Given the description of an element on the screen output the (x, y) to click on. 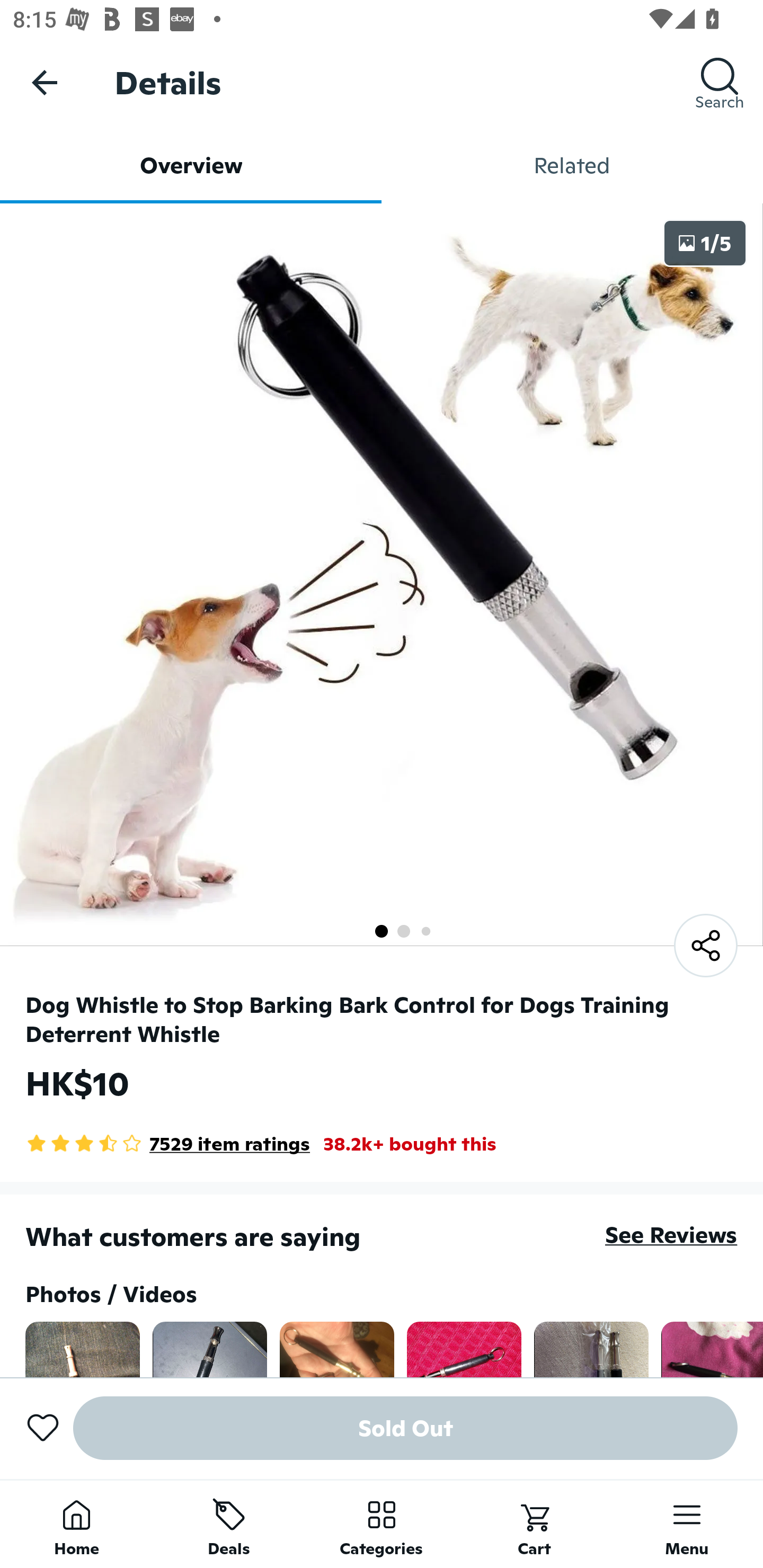
Navigate up (44, 82)
Search (719, 82)
Related (572, 165)
1/5 (705, 242)
3.6 Star Rating 7529 item ratings (167, 1143)
See Reviews (671, 1234)
Sold Out (405, 1428)
Home (76, 1523)
Deals (228, 1523)
Categories (381, 1523)
Cart (533, 1523)
Menu (686, 1523)
